Given the description of an element on the screen output the (x, y) to click on. 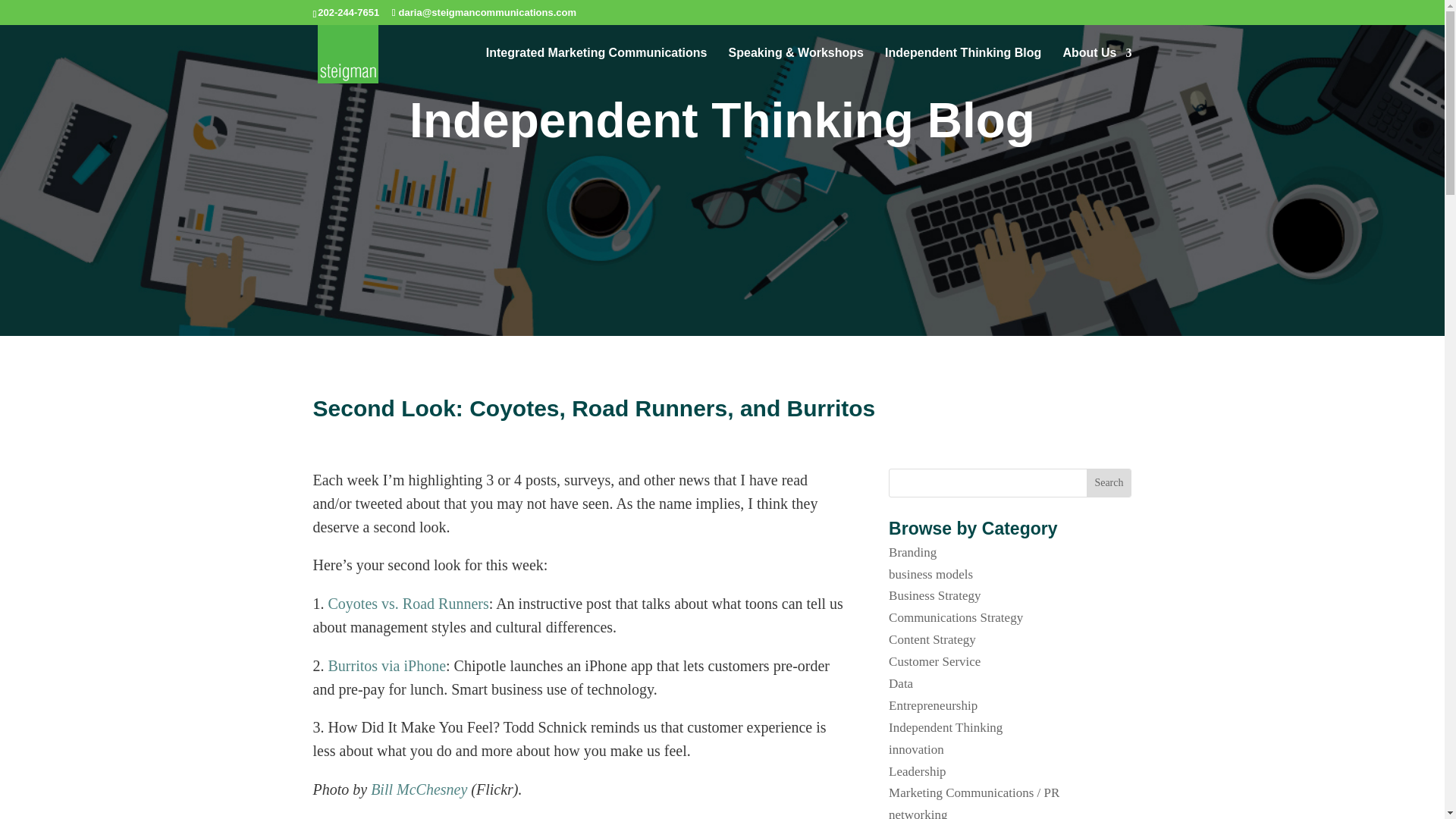
Entrepreneurship (932, 705)
Bill McChesney (419, 789)
Burritos via iPhone (386, 665)
About Us (1096, 65)
Search (1108, 482)
Business Strategy (933, 595)
Search (1108, 482)
Independent Thinking Blog (963, 65)
Communications Strategy (955, 617)
Customer Service (933, 661)
